Given the description of an element on the screen output the (x, y) to click on. 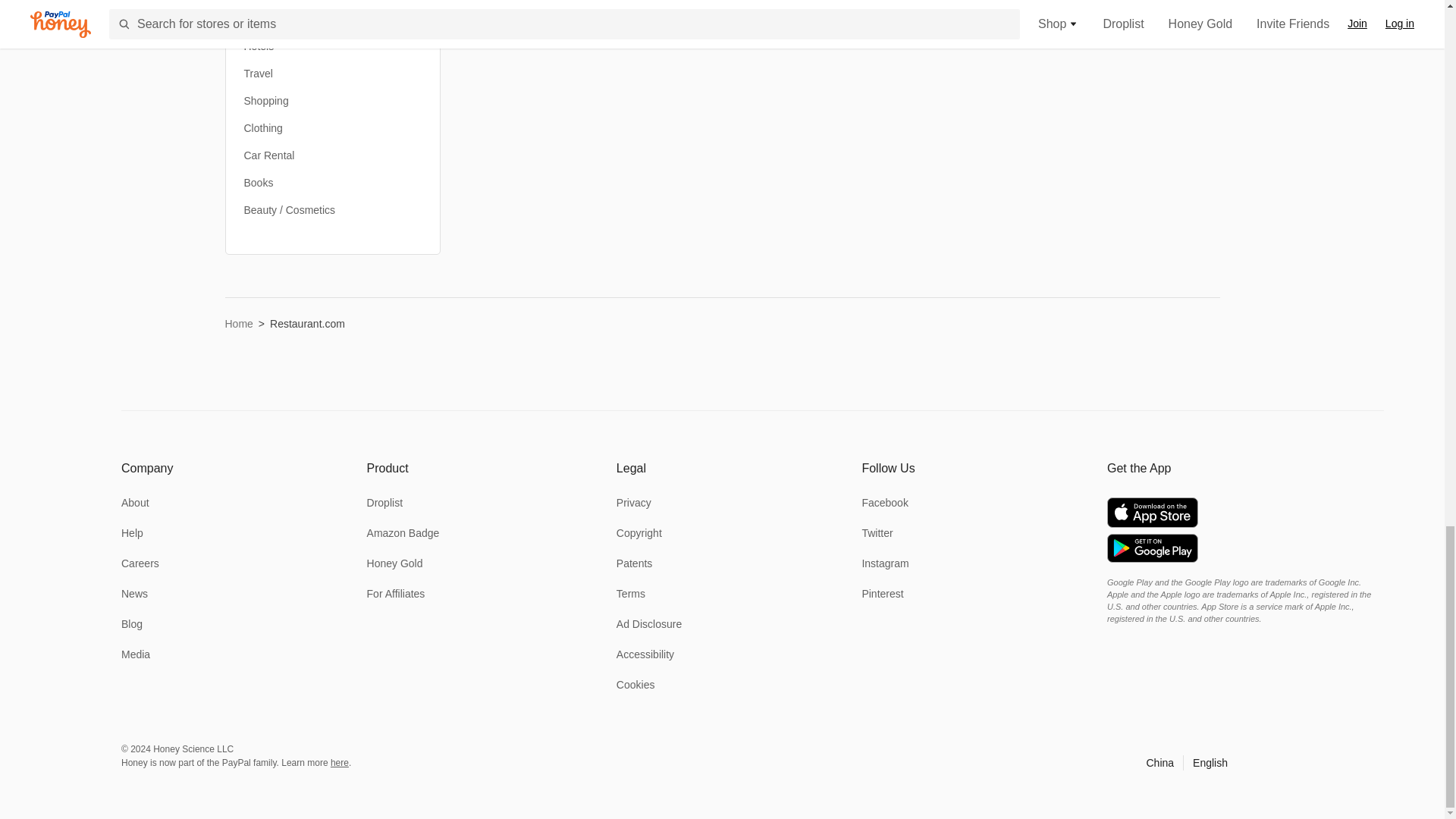
Home (237, 323)
Hotels (259, 46)
Travel (258, 73)
Help (131, 532)
Books (258, 182)
Car Rental (269, 155)
Shopping (266, 100)
About (134, 502)
Clothing (263, 127)
